Given the description of an element on the screen output the (x, y) to click on. 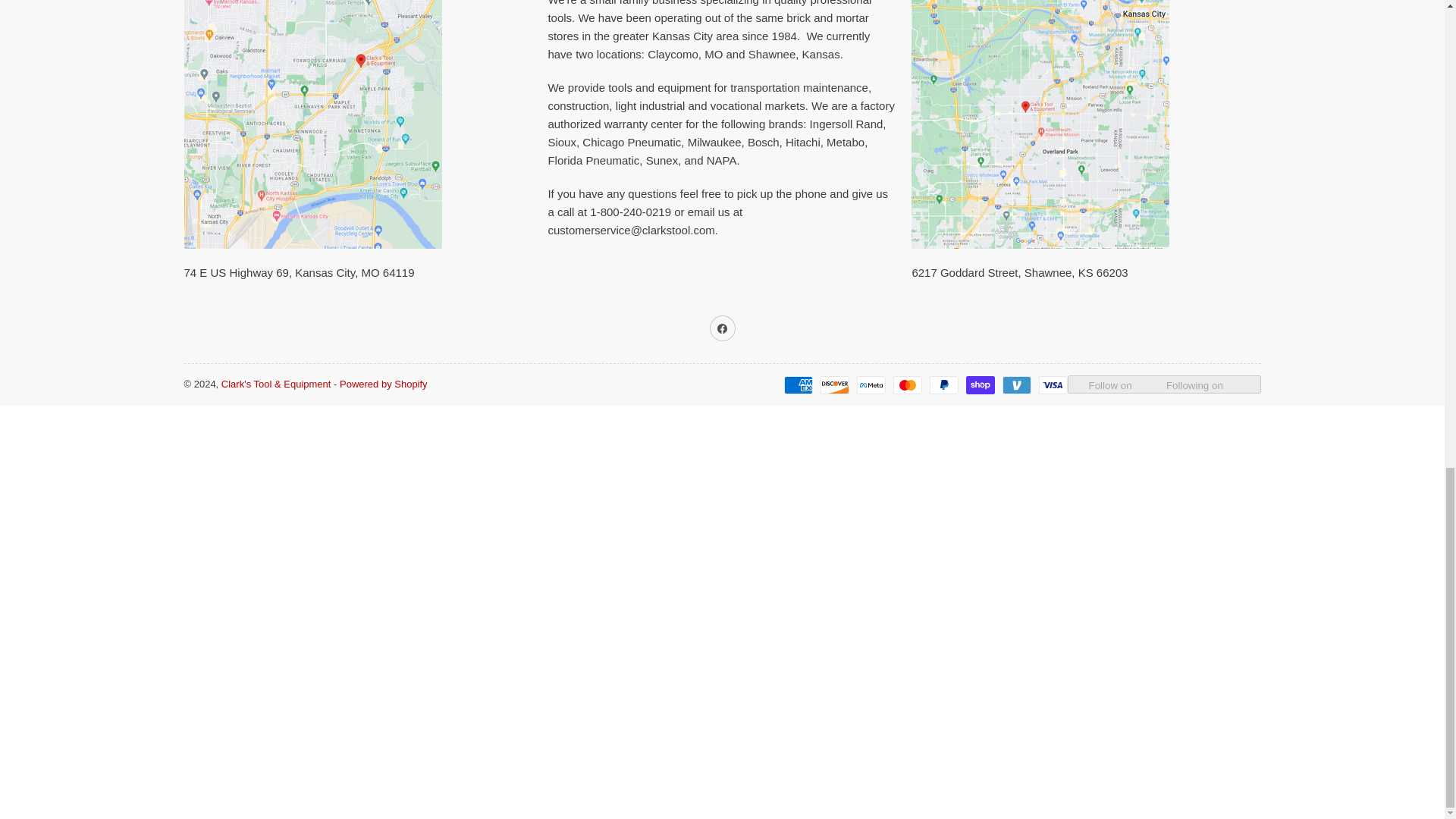
Visa (1053, 384)
Meta Pay (871, 384)
Discover (834, 384)
Venmo (1016, 384)
Mastercard (907, 384)
Shop Pay (980, 384)
PayPal (944, 384)
American Express (798, 384)
